Given the description of an element on the screen output the (x, y) to click on. 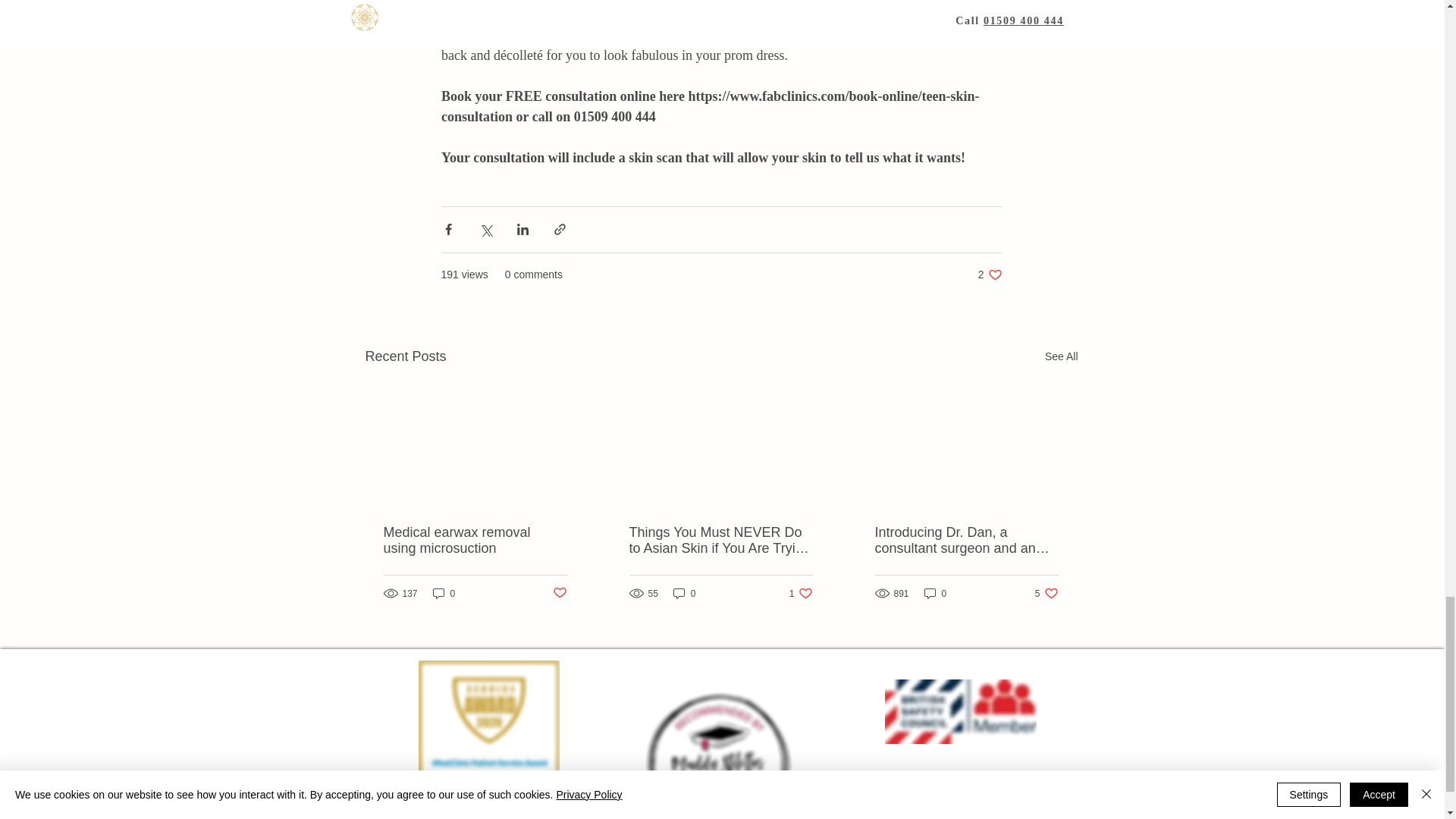
0 (684, 593)
0 (800, 593)
0 (1046, 593)
Post not marked as liked (990, 274)
Medical earwax removal using microsuction (936, 593)
